Given the description of an element on the screen output the (x, y) to click on. 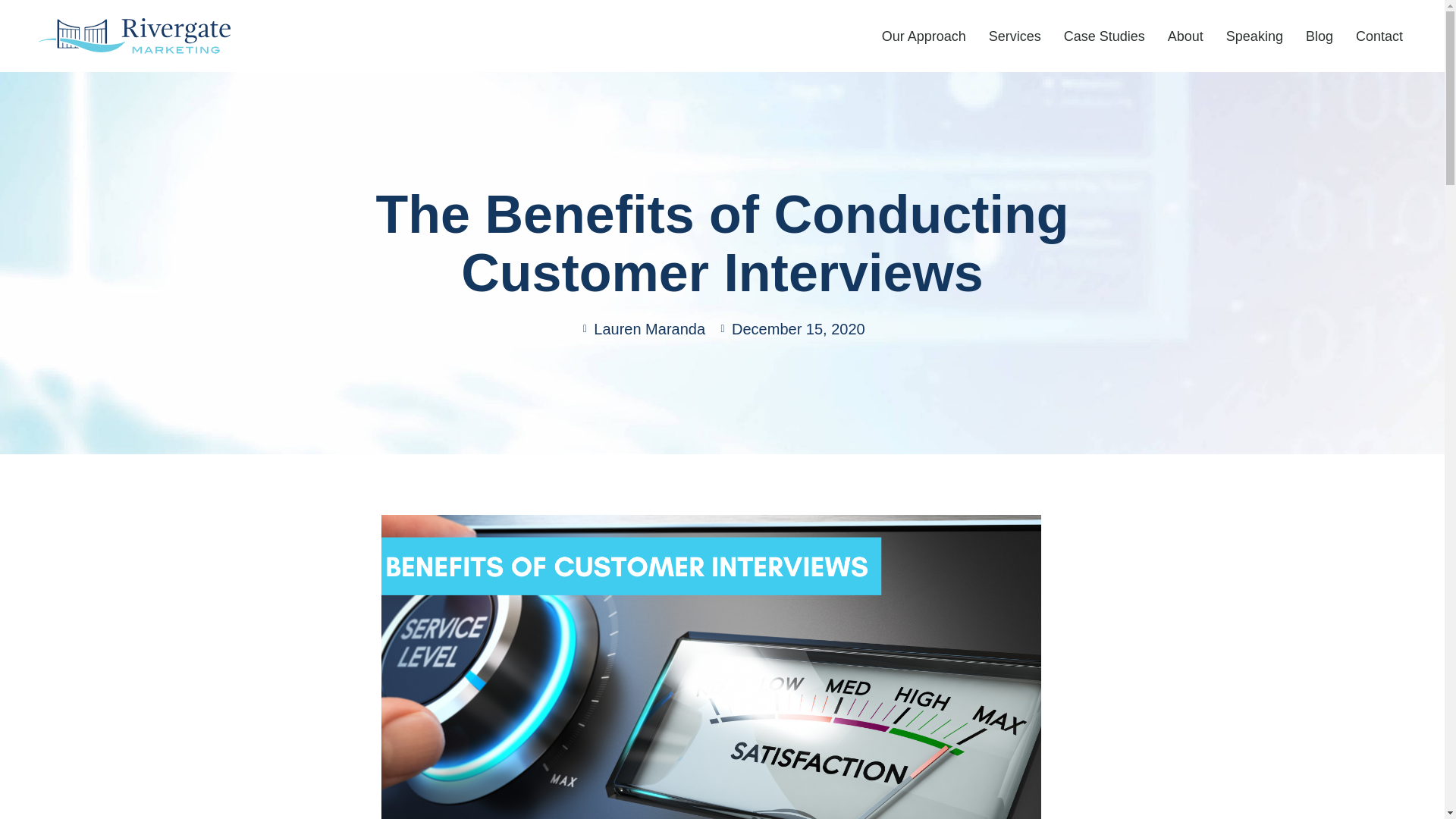
Services (1014, 36)
Speaking (1254, 36)
Our Approach (923, 36)
Blog (1318, 36)
Contact (1378, 36)
Case Studies (1104, 36)
About (1185, 36)
